Given the description of an element on the screen output the (x, y) to click on. 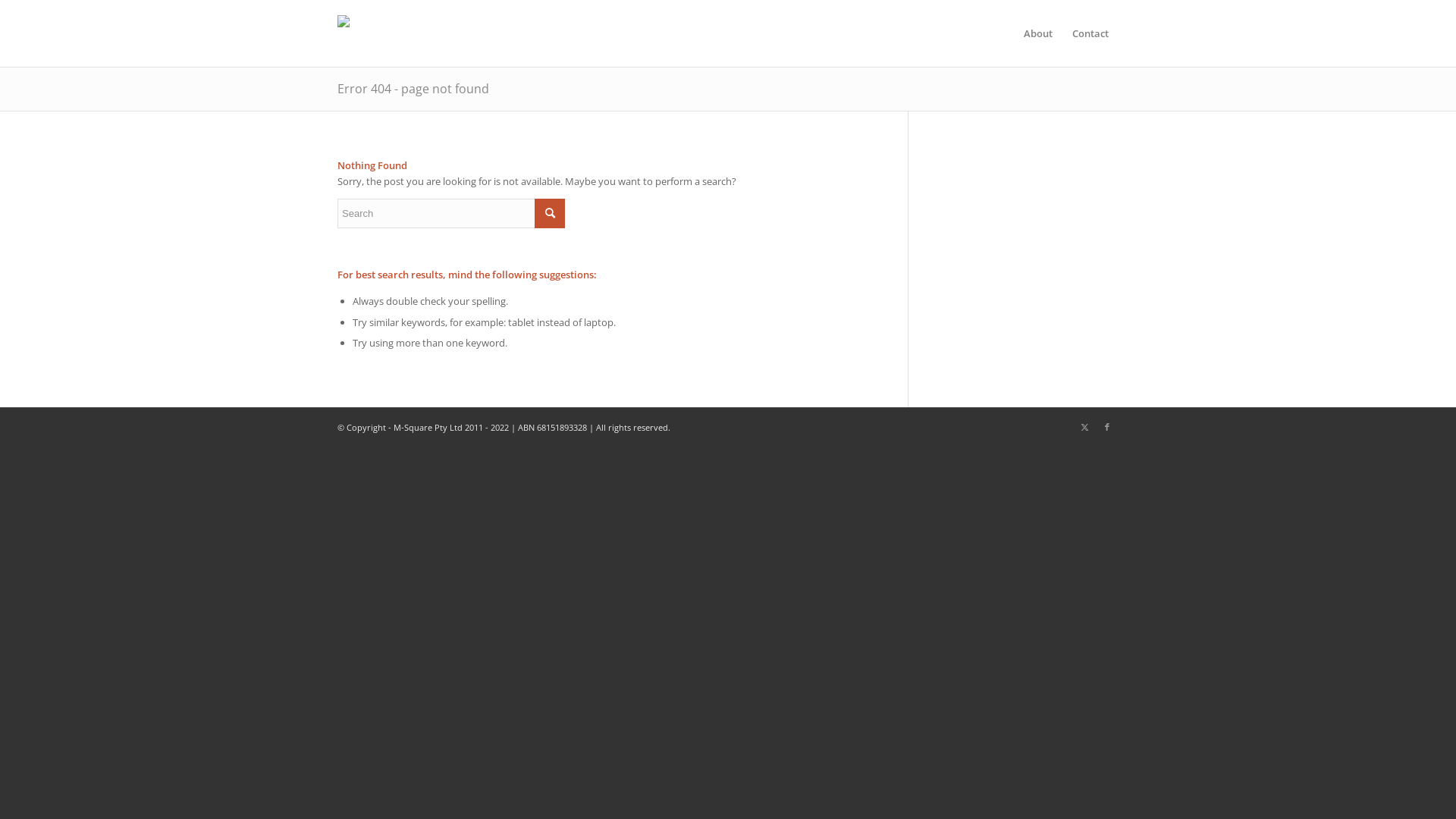
Twitter Element type: hover (1084, 426)
Facebook Element type: hover (1106, 426)
Contact Element type: text (1090, 33)
About Element type: text (1037, 33)
